Given the description of an element on the screen output the (x, y) to click on. 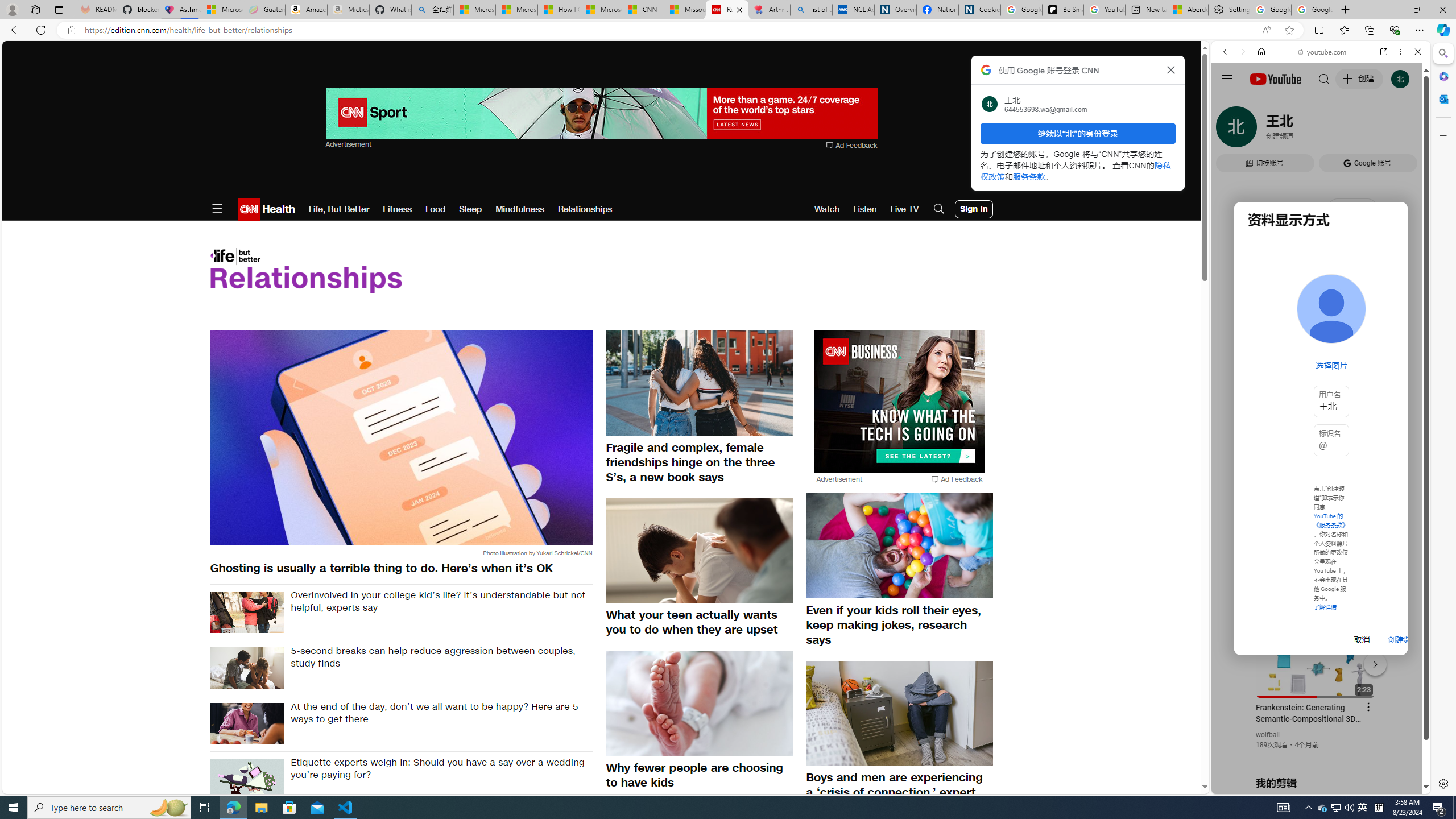
Mindfulness (519, 209)
Show More Music (1390, 310)
Trailer #2 [HD] (1320, 336)
Class: Bz112c Bz112c-r9oPif (1170, 69)
AutomationID: aw0 (899, 402)
